Given the description of an element on the screen output the (x, y) to click on. 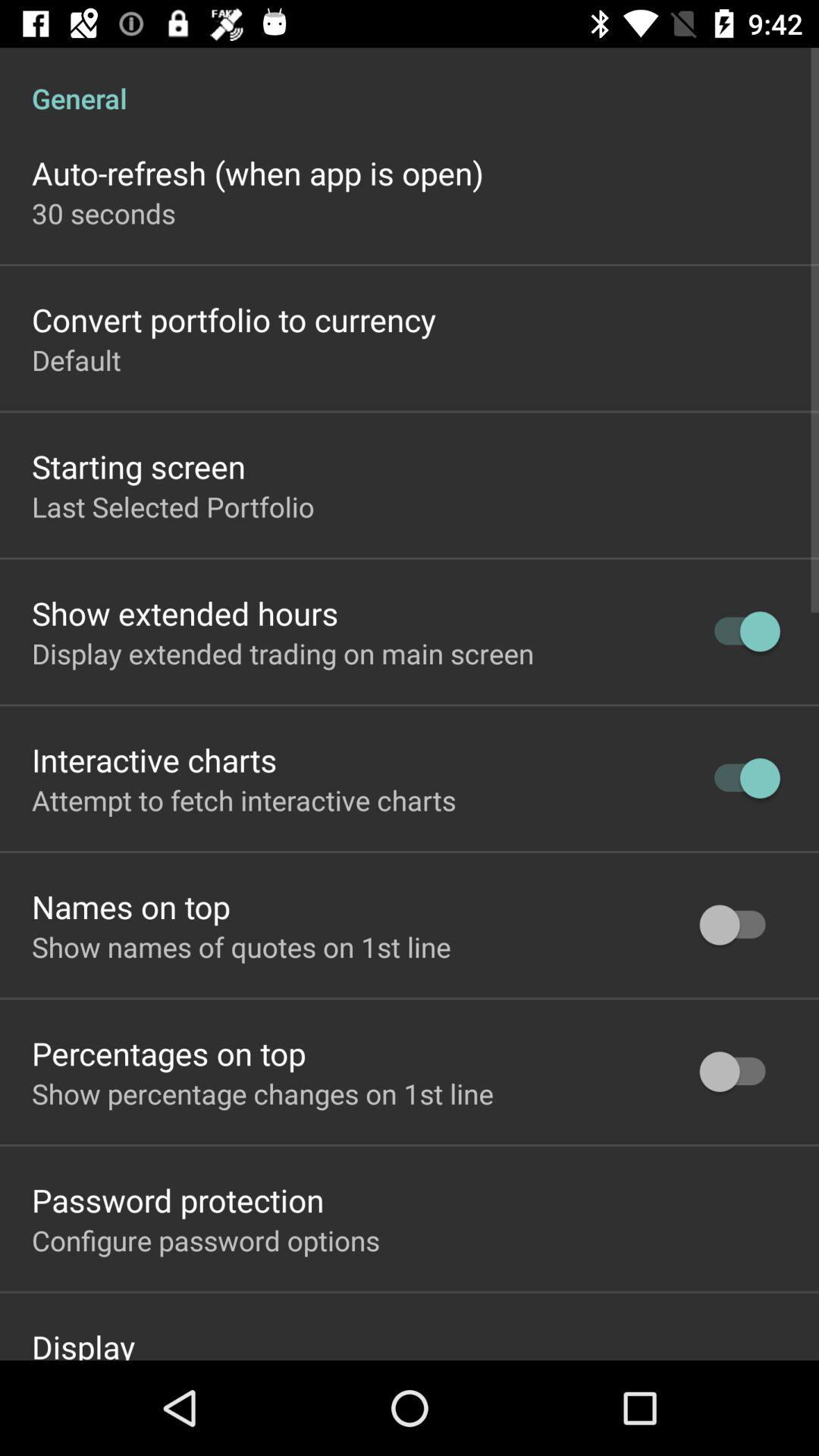
tap app above last selected portfolio (138, 465)
